Given the description of an element on the screen output the (x, y) to click on. 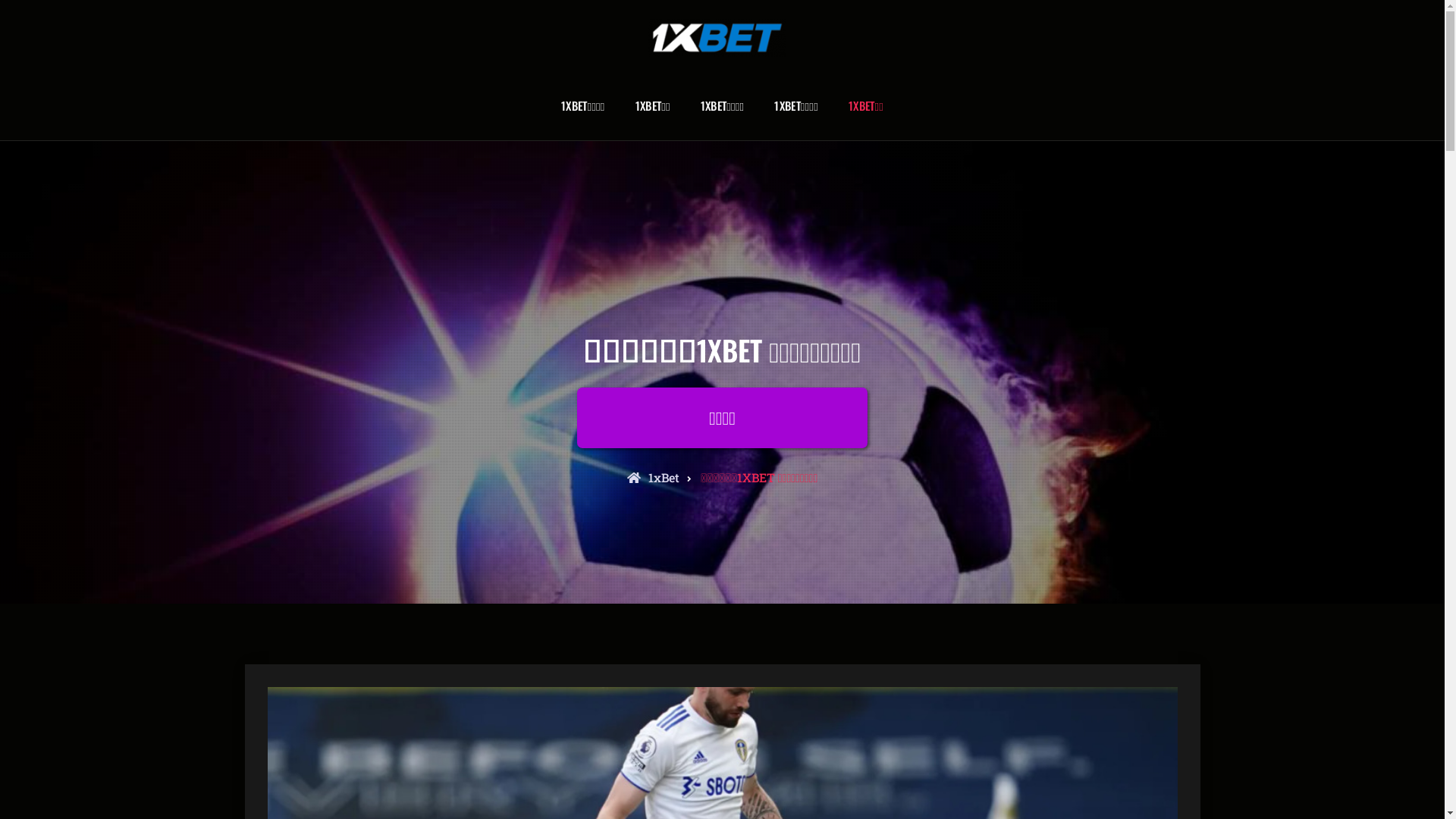
1xBet Element type: text (653, 477)
1xbet-bonus-cn.com Element type: text (316, 67)
